Given the description of an element on the screen output the (x, y) to click on. 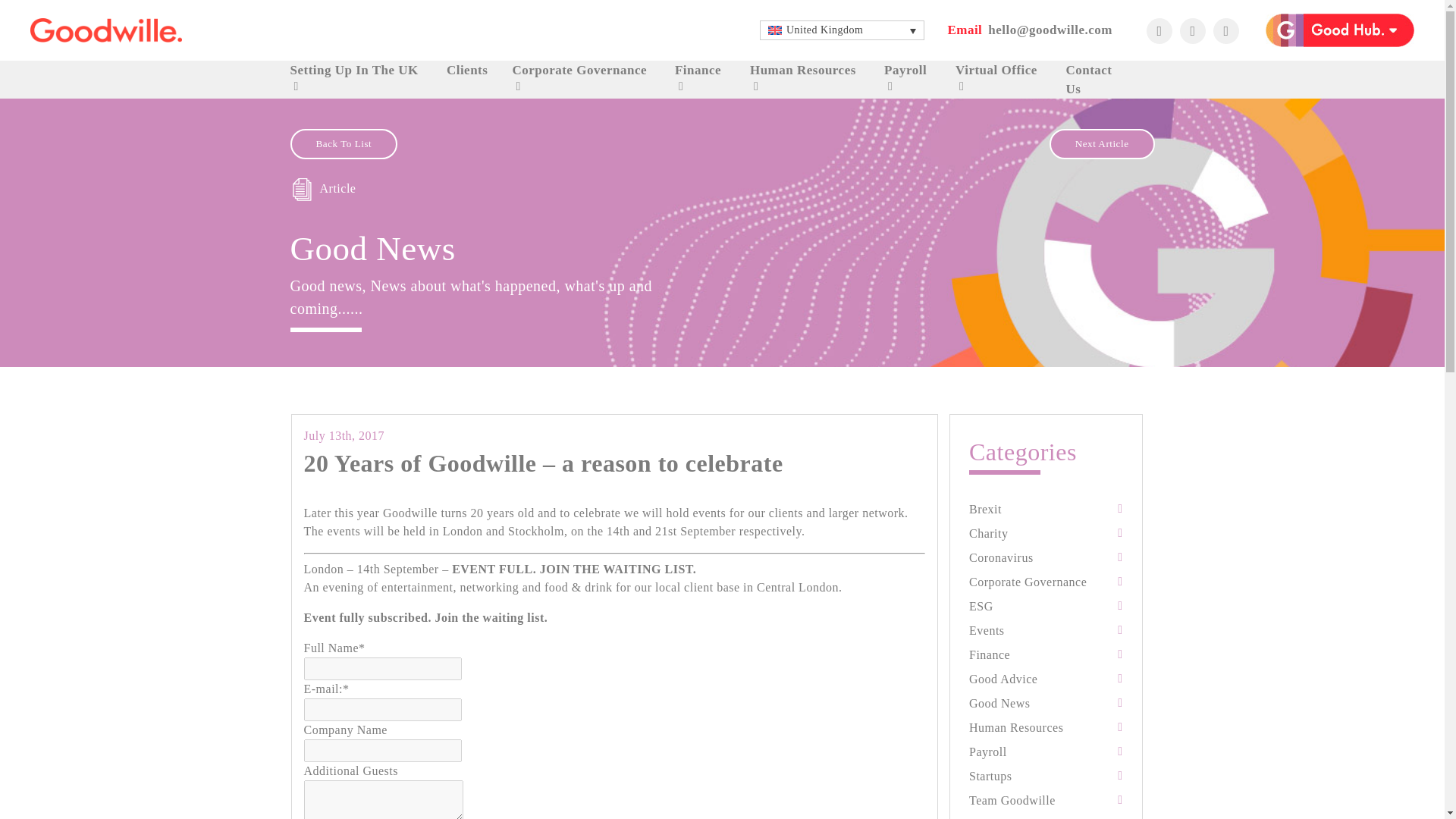
Setting Up In The UK (353, 69)
Corporate Governance (579, 69)
Clients (466, 69)
LinkedIn (1159, 31)
United Kingdom (842, 30)
Youtube (1225, 31)
Instagram (1192, 31)
